Given the description of an element on the screen output the (x, y) to click on. 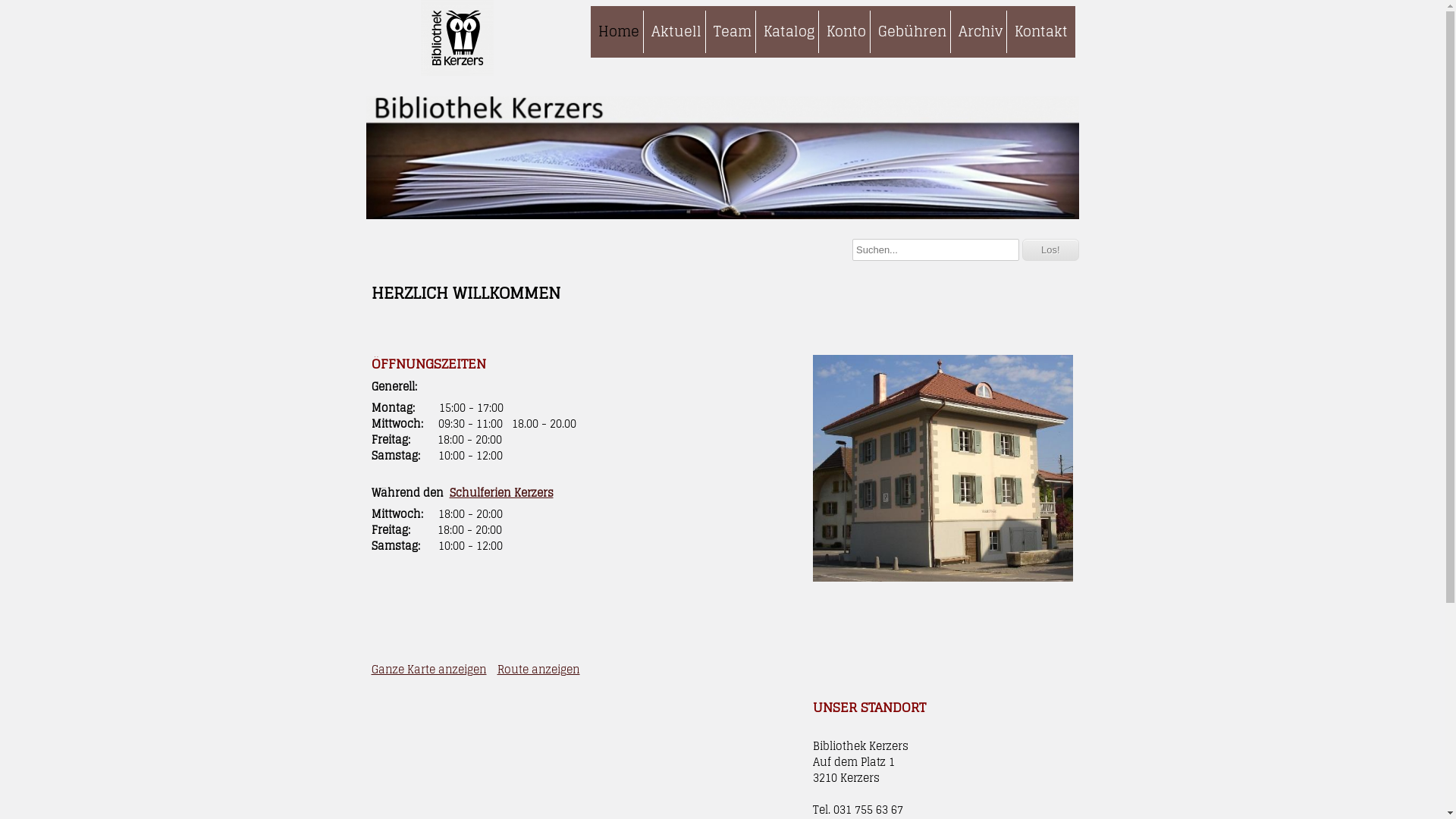
Aktuell Element type: text (676, 31)
Route anzeigen Element type: text (538, 668)
Kontakt Element type: text (1039, 31)
Team Element type: text (732, 31)
Ganze Karte anzeigen Element type: text (428, 668)
Konto Element type: text (844, 31)
Archiv Element type: text (979, 31)
Katalog Element type: text (788, 31)
Los! Element type: text (1050, 249)
Schulferien Kerzers Element type: text (500, 492)
Home Element type: text (617, 31)
